Given the description of an element on the screen output the (x, y) to click on. 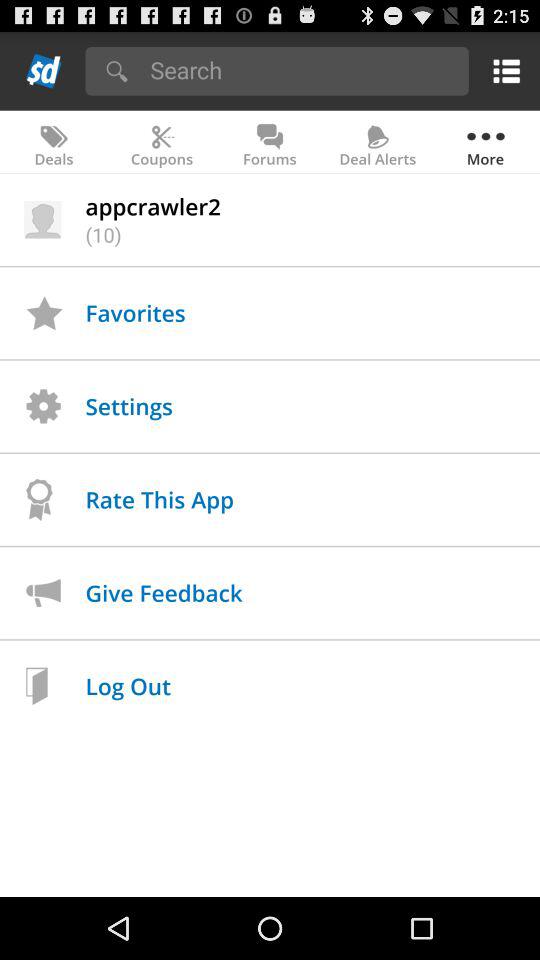
settings (502, 70)
